Given the description of an element on the screen output the (x, y) to click on. 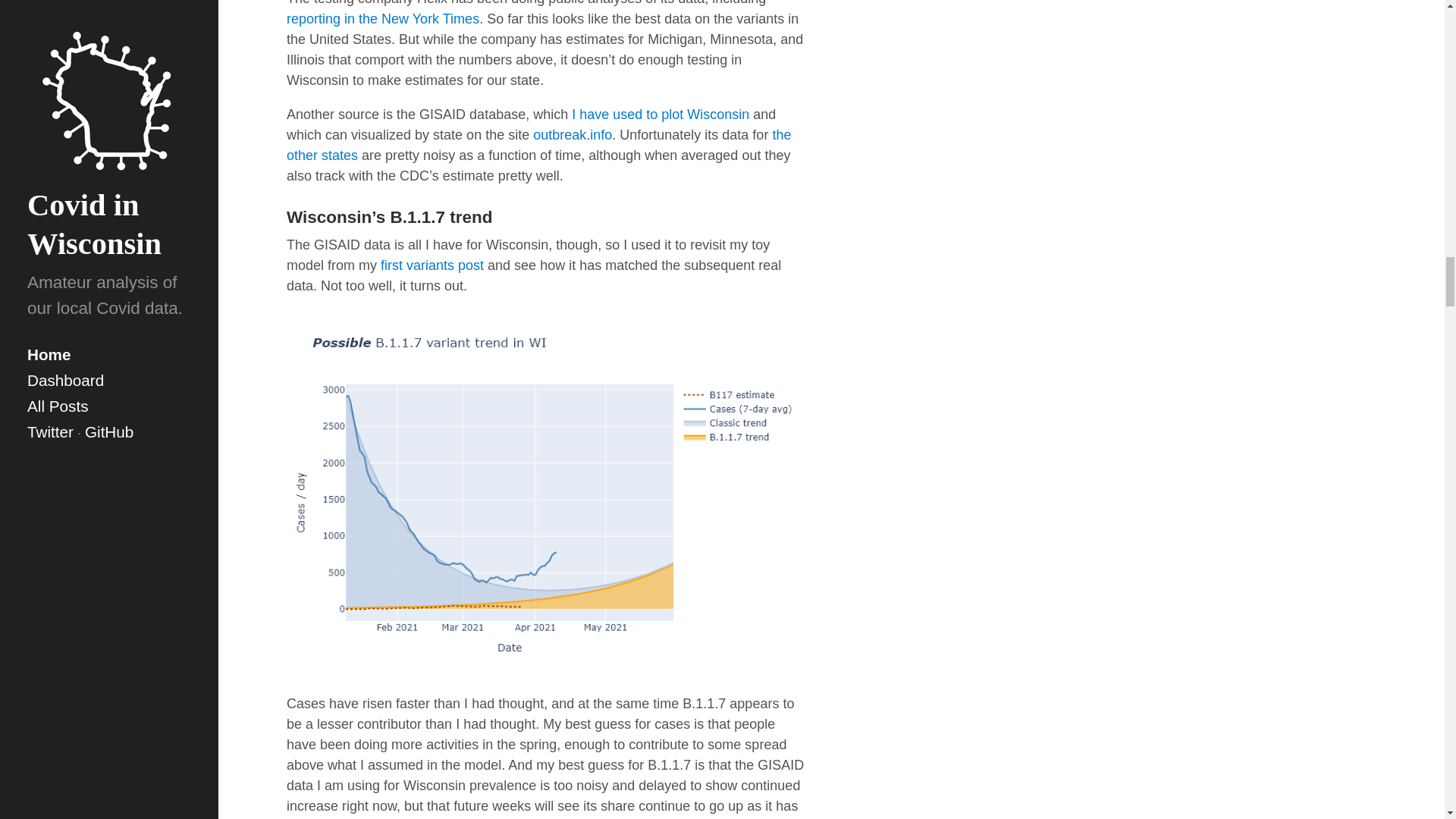
reporting in the New York Times (382, 18)
I have used to plot Wisconsin (660, 114)
outbreak.info (571, 134)
the (780, 134)
states (339, 155)
other (301, 155)
first variants post (431, 264)
